Given the description of an element on the screen output the (x, y) to click on. 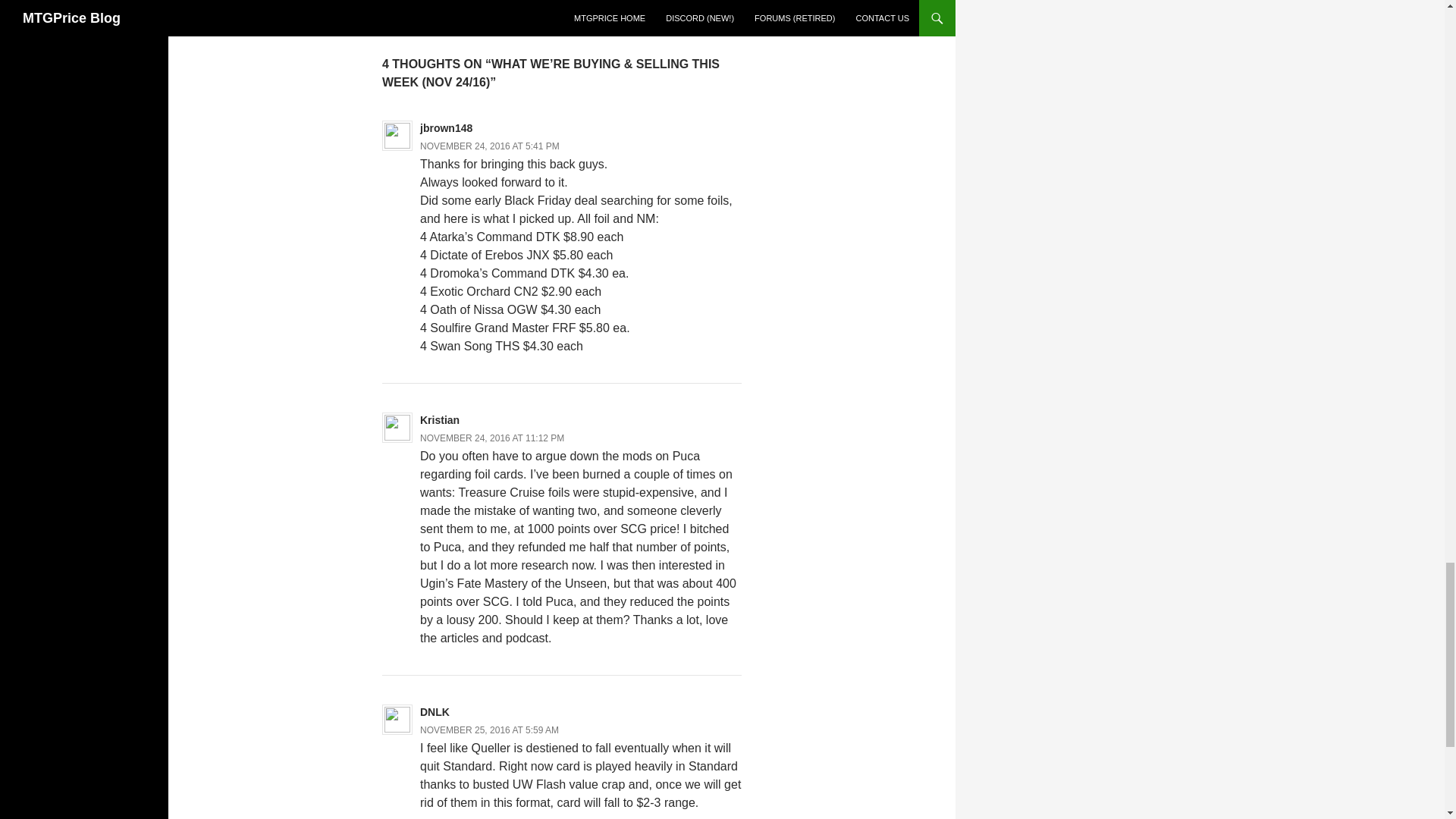
NOVEMBER 24, 2016 AT 5:41 PM (489, 145)
NOVEMBER 24, 2016 AT 11:12 PM (492, 438)
NOVEMBER 25, 2016 AT 5:59 AM (489, 729)
